Given the description of an element on the screen output the (x, y) to click on. 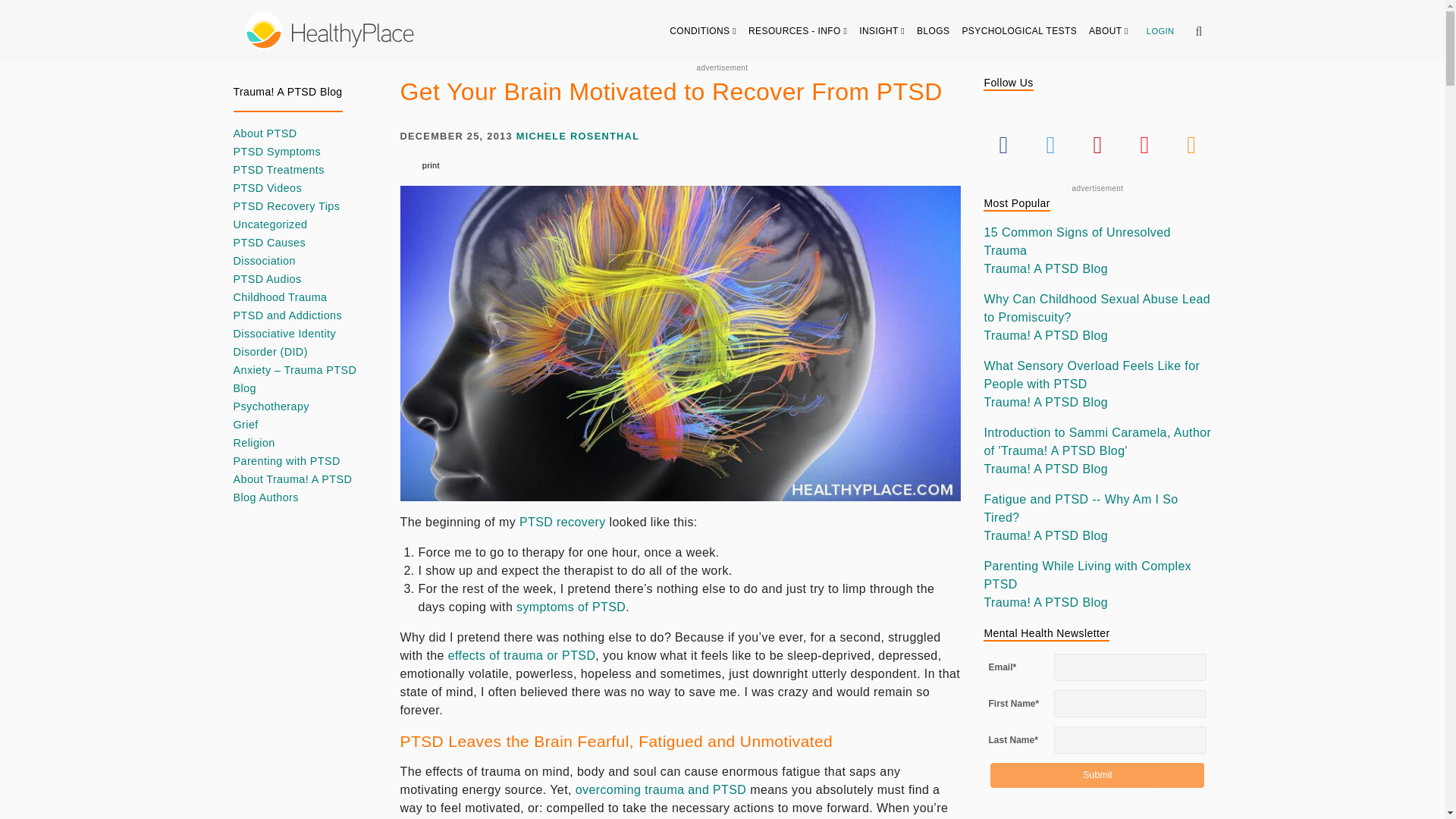
INSIGHT (882, 31)
CONDITIONS (702, 31)
RESOURCES - INFO (797, 31)
10 Tips to Boost Your PTSD Recovery (562, 521)
Overcoming PTSD By Erasing Traumatic Learning Experiences (660, 789)
PTSD Symptoms and Signs of PTSD (571, 606)
Submit (1097, 774)
